Given the description of an element on the screen output the (x, y) to click on. 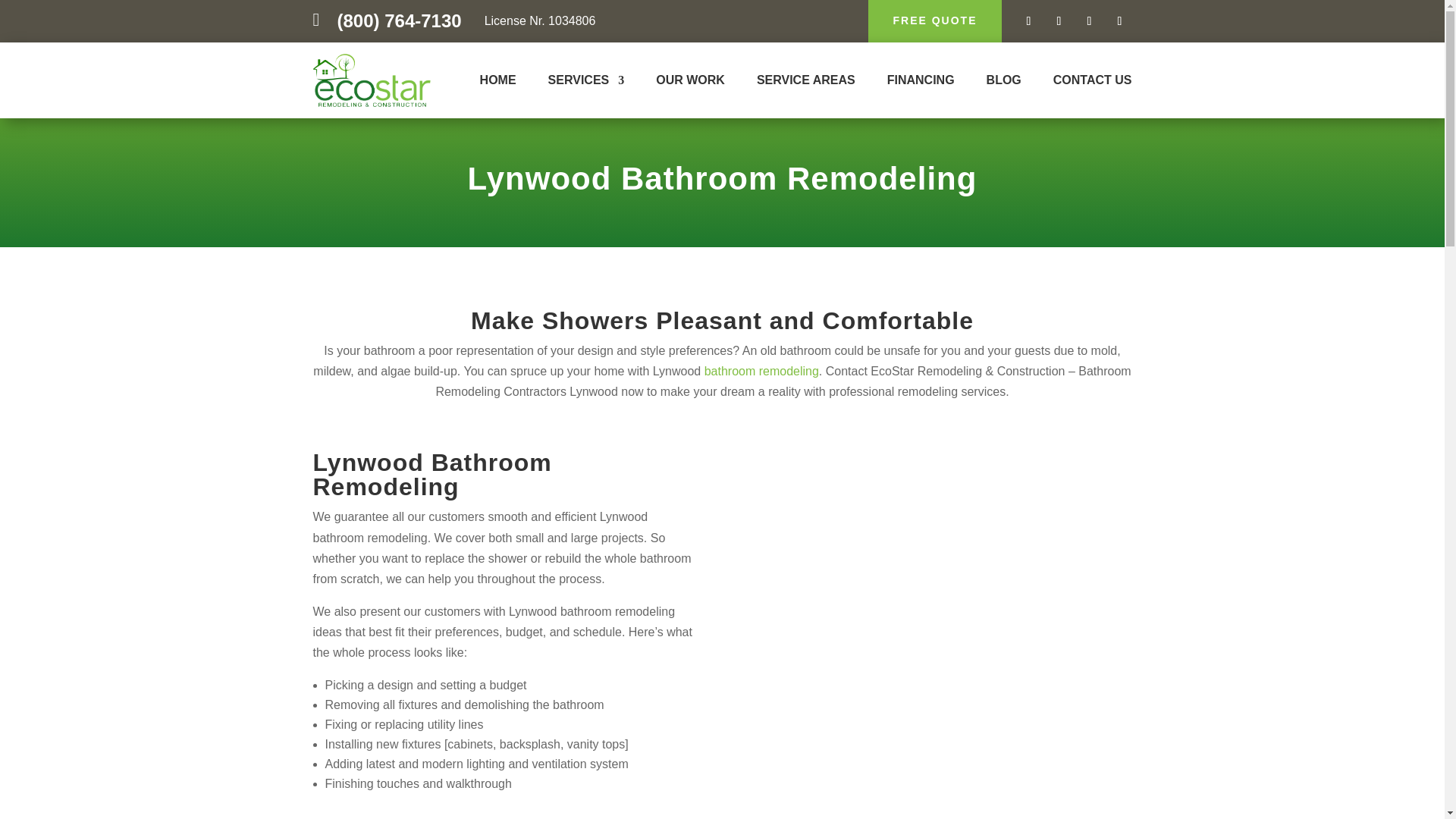
Follow on Facebook (1028, 21)
BLOG (1004, 83)
SERVICES (586, 83)
SERVICE AREAS (806, 83)
Follow on Youtube (1088, 21)
OUR WORK (690, 83)
FINANCING (920, 83)
HOME (498, 83)
FREE QUOTE (934, 21)
Follow on Yelp (1118, 21)
CONTACT US (1092, 83)
Follow on Instagram (1058, 21)
